Given the description of an element on the screen output the (x, y) to click on. 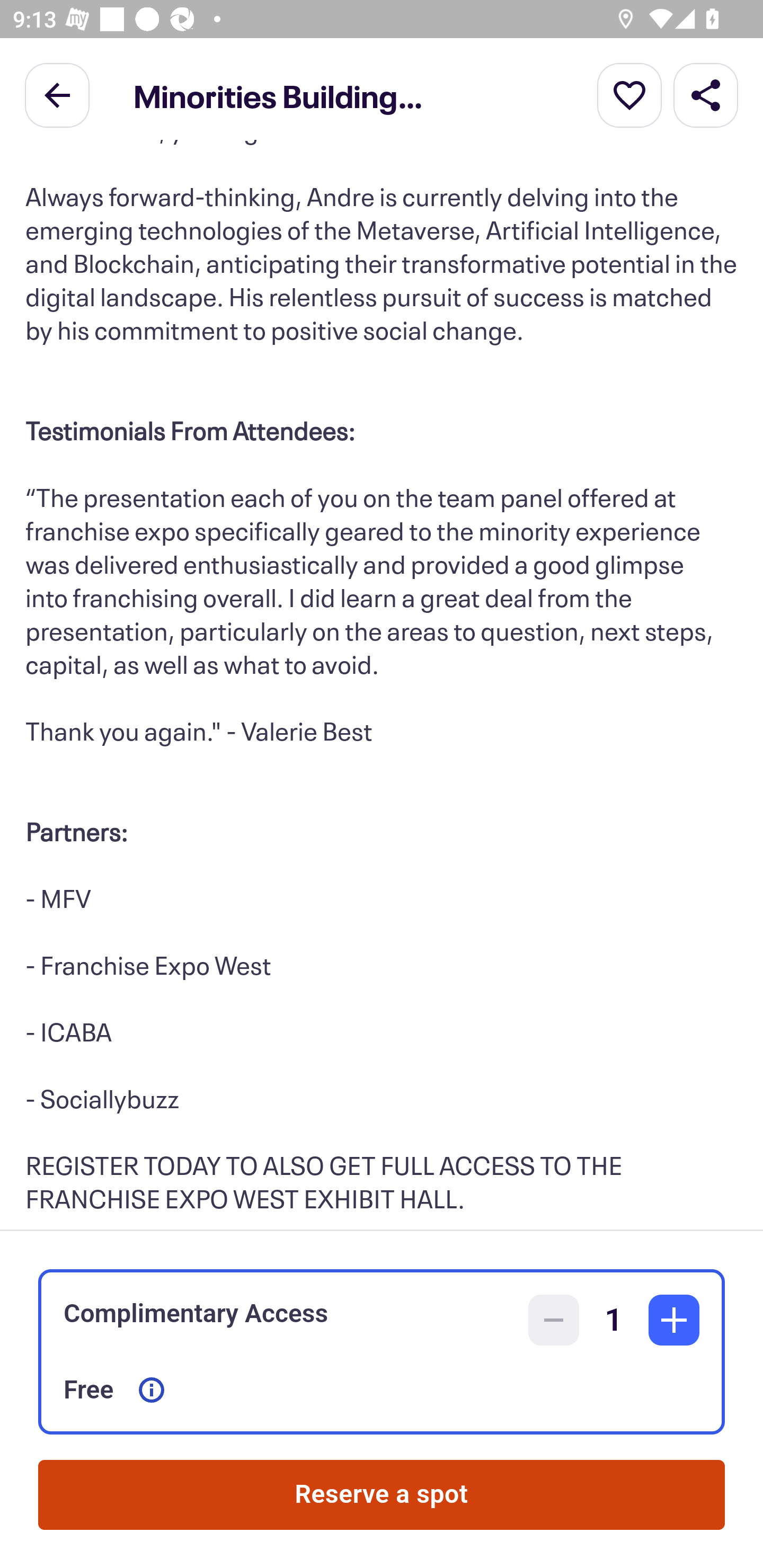
Back (57, 94)
More (629, 94)
Share (705, 94)
Decrease (553, 1320)
Increase (673, 1320)
Show more information (151, 1389)
Reserve a spot (381, 1494)
